Given the description of an element on the screen output the (x, y) to click on. 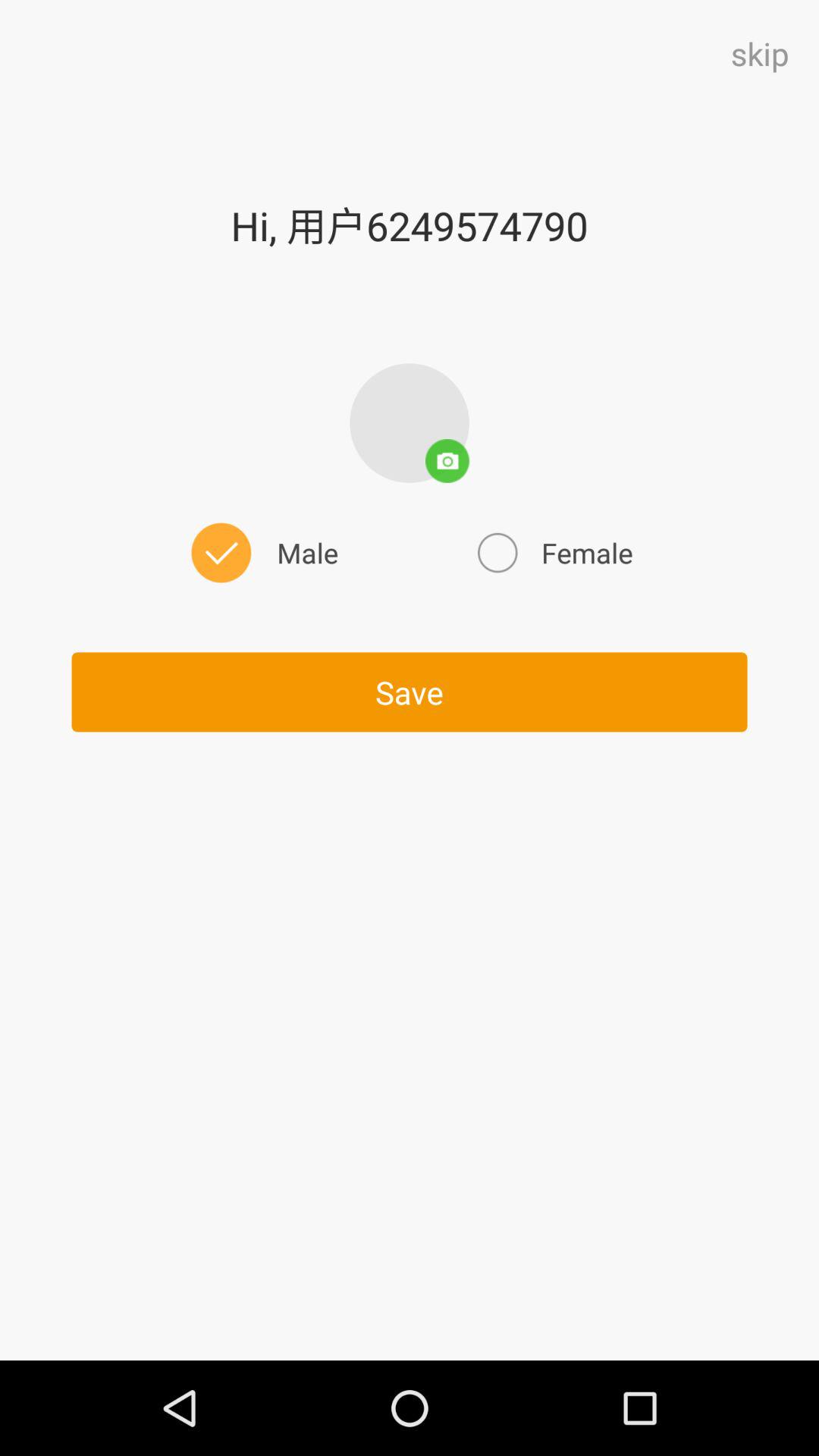
swipe to the save icon (409, 691)
